Given the description of an element on the screen output the (x, y) to click on. 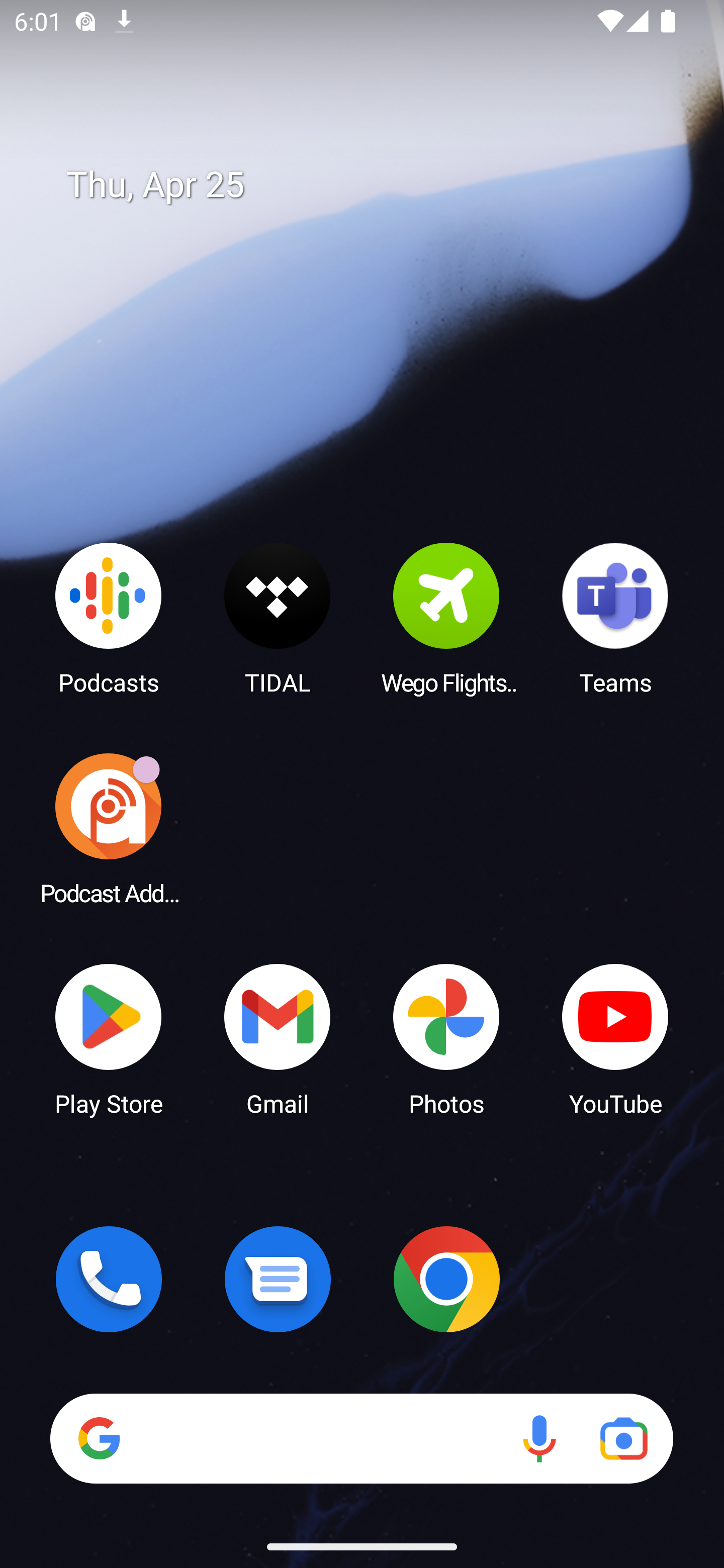
Thu, Apr 25 (375, 184)
Podcasts (108, 617)
TIDAL (277, 617)
Wego Flights & Hotels (445, 617)
Teams (615, 617)
Podcast Addict Podcast Addict has 19 notifications (108, 828)
Play Store (108, 1038)
Gmail (277, 1038)
Photos (445, 1038)
YouTube (615, 1038)
Phone (108, 1279)
Messages (277, 1279)
Chrome (446, 1279)
Search Voice search Google Lens (361, 1438)
Voice search (539, 1438)
Google Lens (623, 1438)
